Given the description of an element on the screen output the (x, y) to click on. 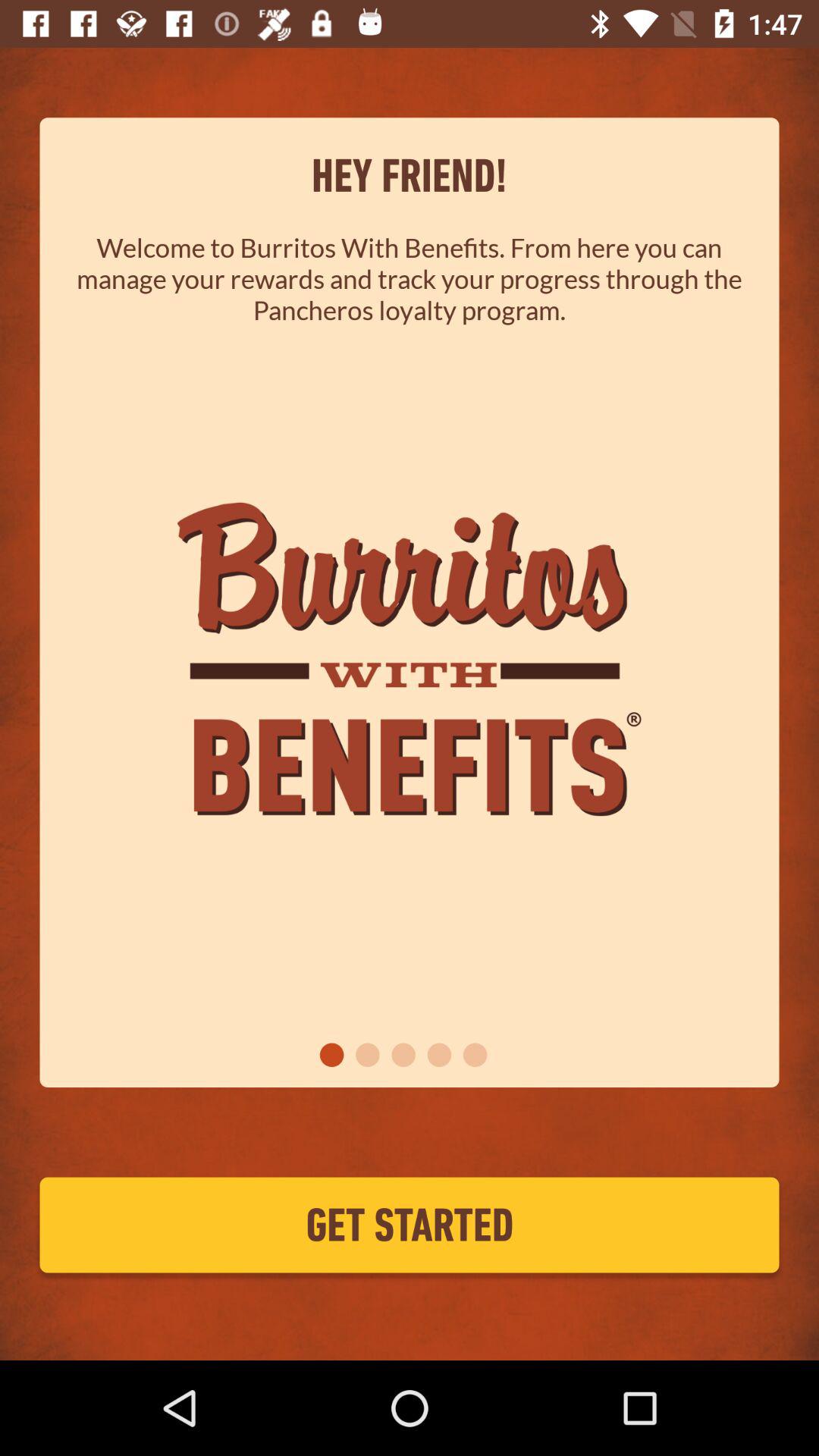
scroll until get started icon (409, 1224)
